Given the description of an element on the screen output the (x, y) to click on. 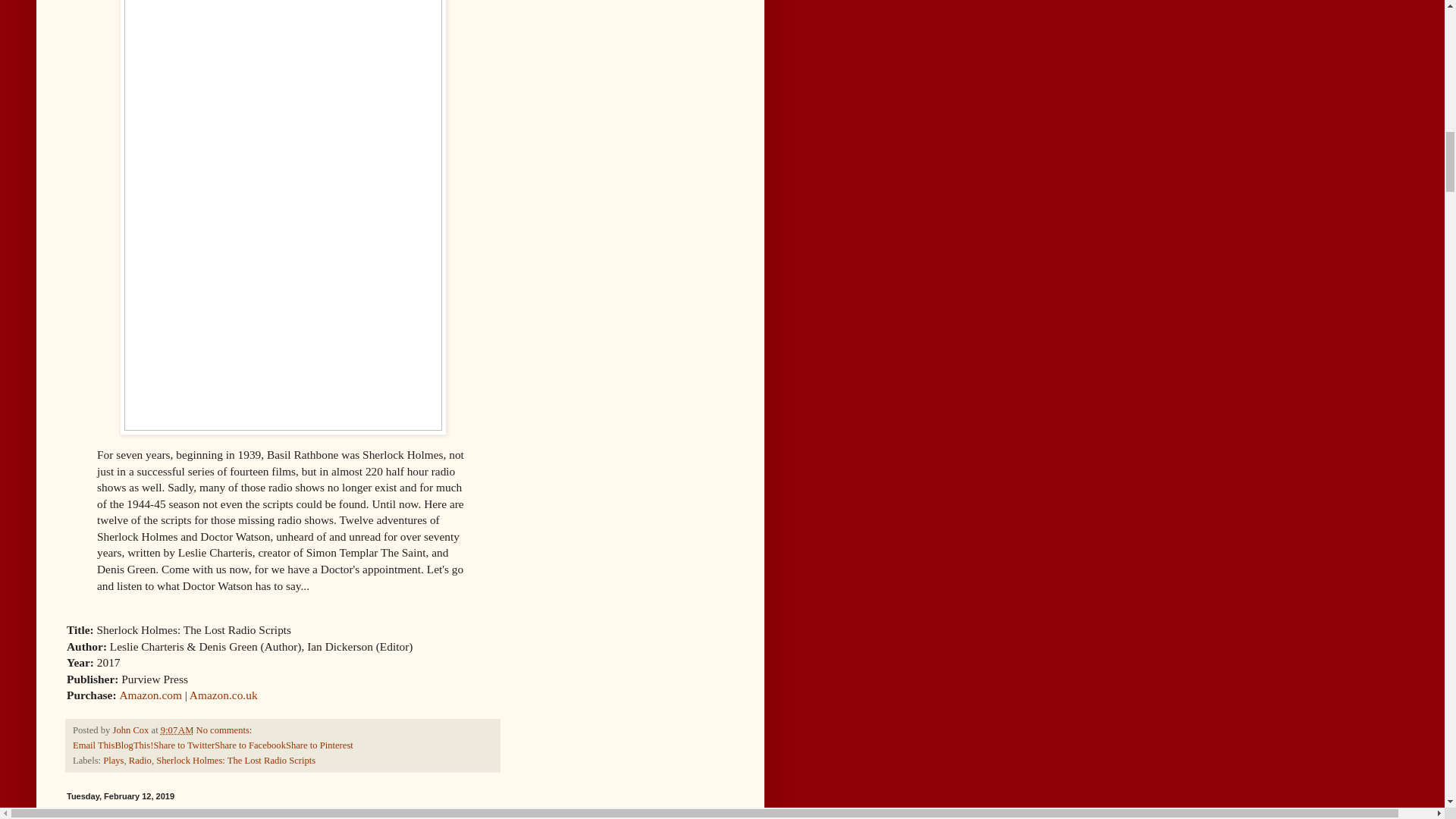
Share to Pinterest (319, 745)
Email This (93, 745)
Share to Twitter (183, 745)
Share to Facebook (249, 745)
BlogThis! (133, 745)
author profile (131, 729)
permanent link (176, 729)
